Given the description of an element on the screen output the (x, y) to click on. 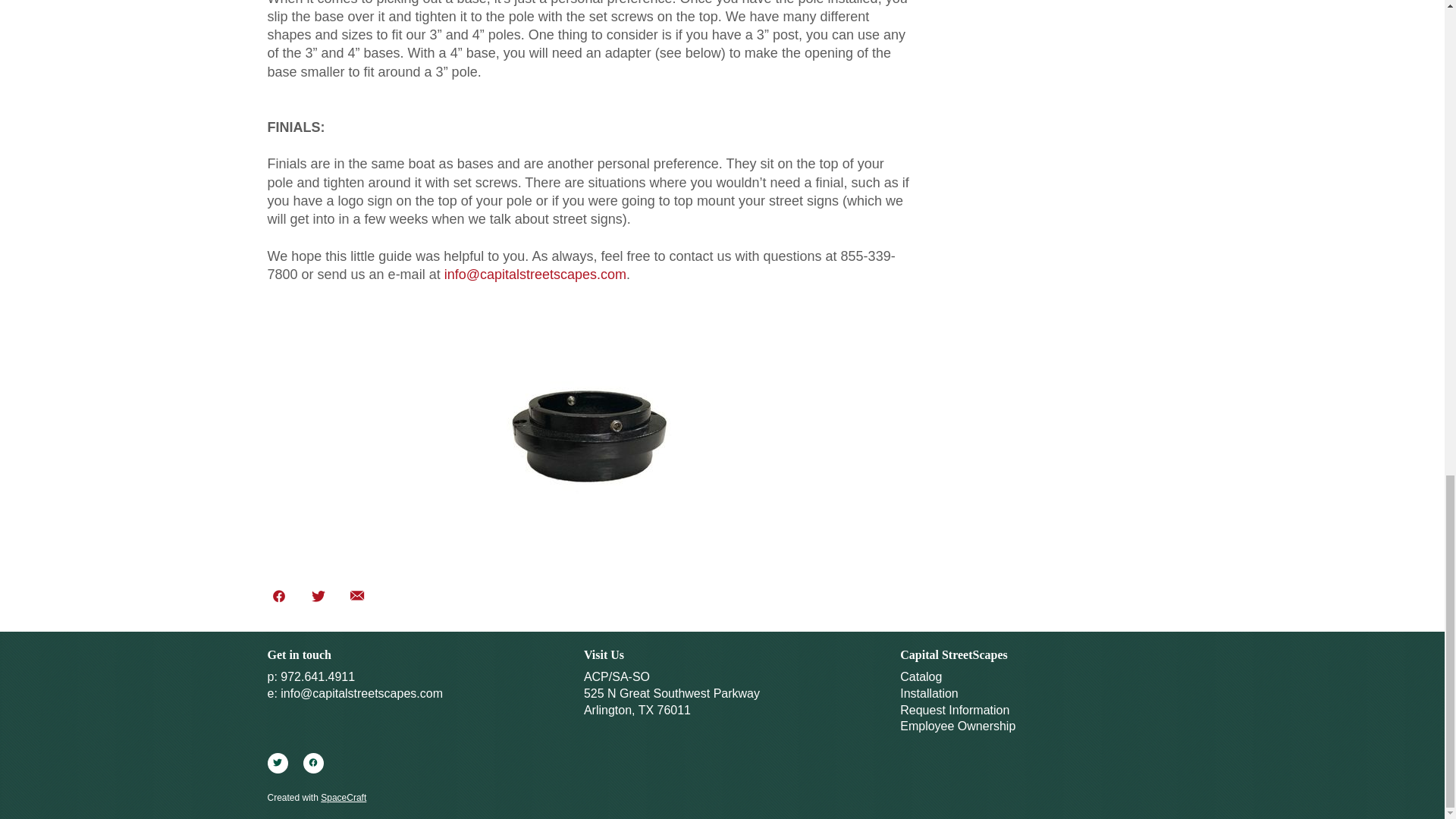
Base adapter for a 4" base and a 3" pole (589, 434)
